Given the description of an element on the screen output the (x, y) to click on. 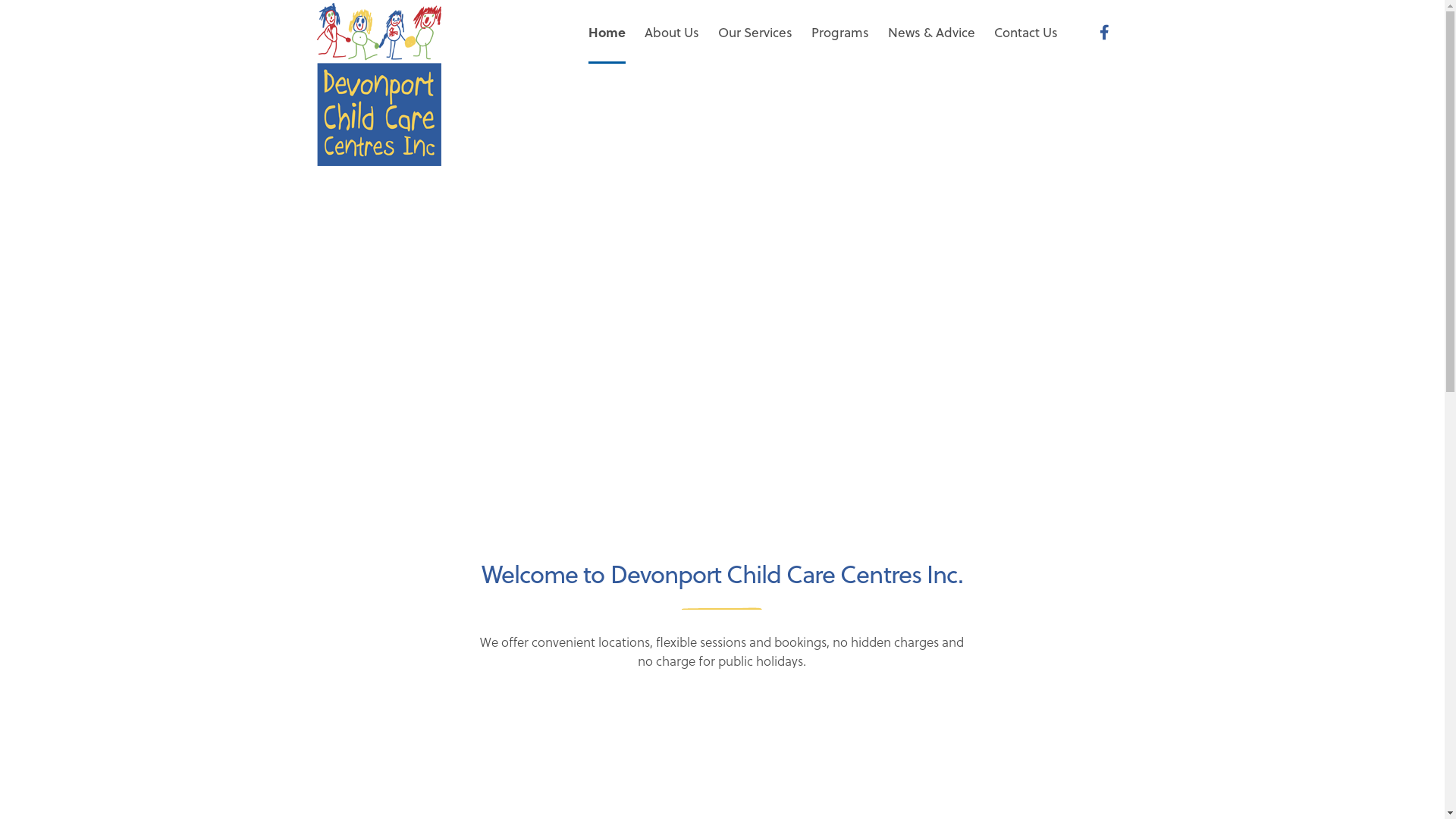
About Us Element type: text (671, 31)
News & Advice Element type: text (930, 31)
Follow us on Facebook Element type: hover (1104, 31)
Home Element type: text (606, 31)
Our Services Element type: text (754, 31)
Programs Element type: text (840, 31)
Contact Us Element type: text (1025, 31)
